Given the description of an element on the screen output the (x, y) to click on. 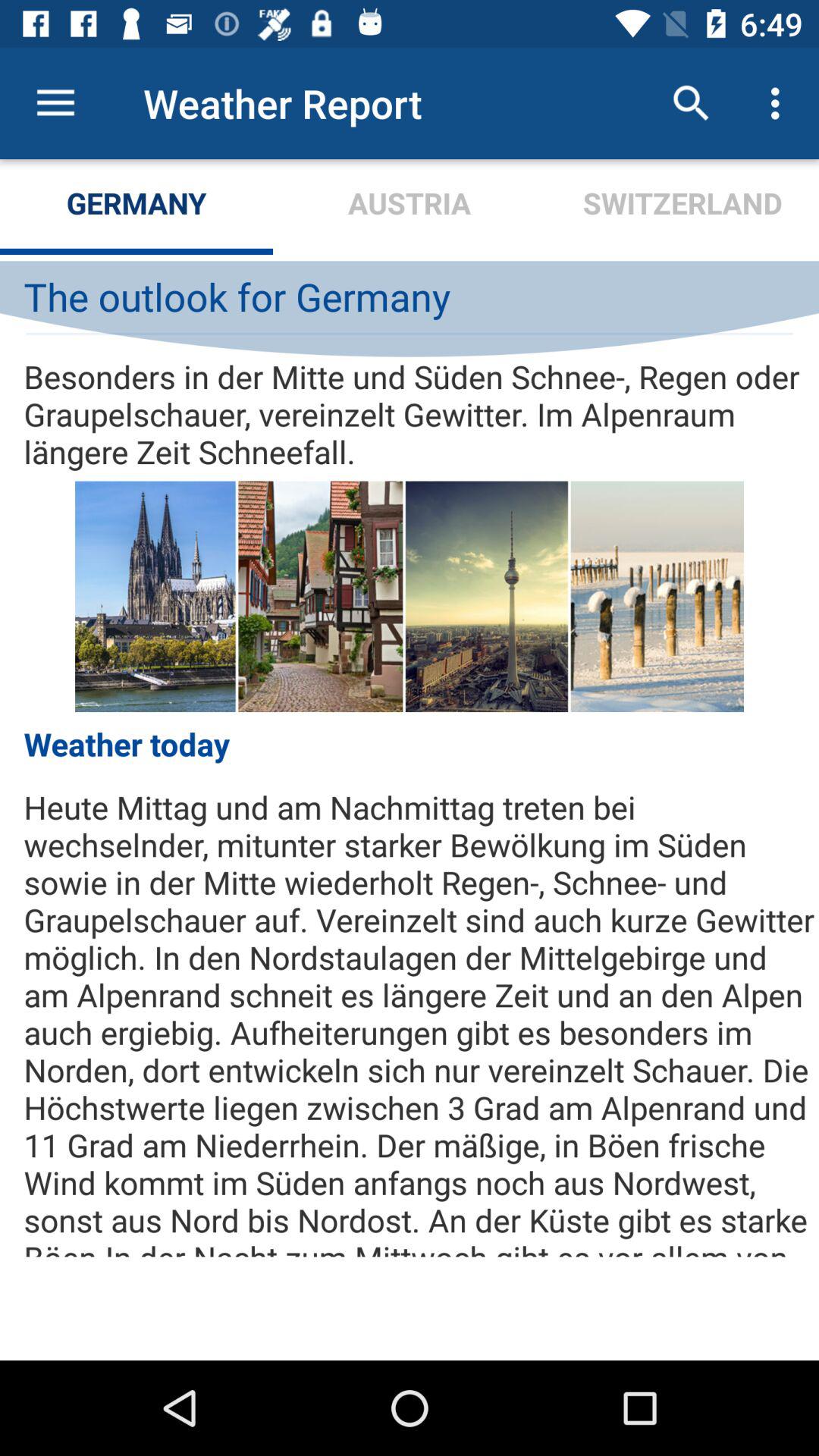
turn on the icon to the left of the weather report icon (55, 103)
